Given the description of an element on the screen output the (x, y) to click on. 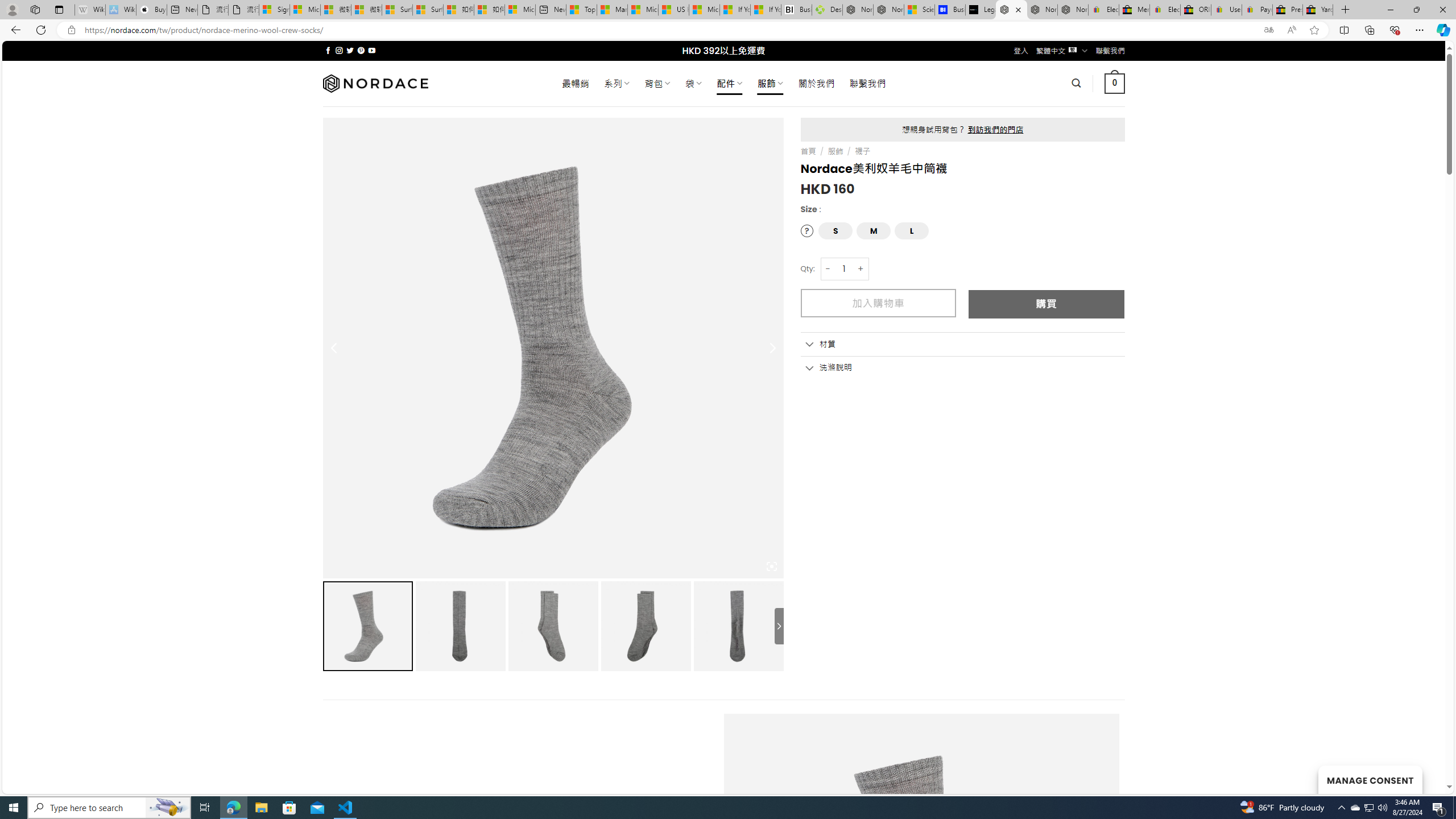
US Heat Deaths Soared To Record High Last Year (673, 9)
Follow on Pinterest (360, 50)
Marine life - MSN (611, 9)
User Privacy Notice | eBay (1226, 9)
